Given the description of an element on the screen output the (x, y) to click on. 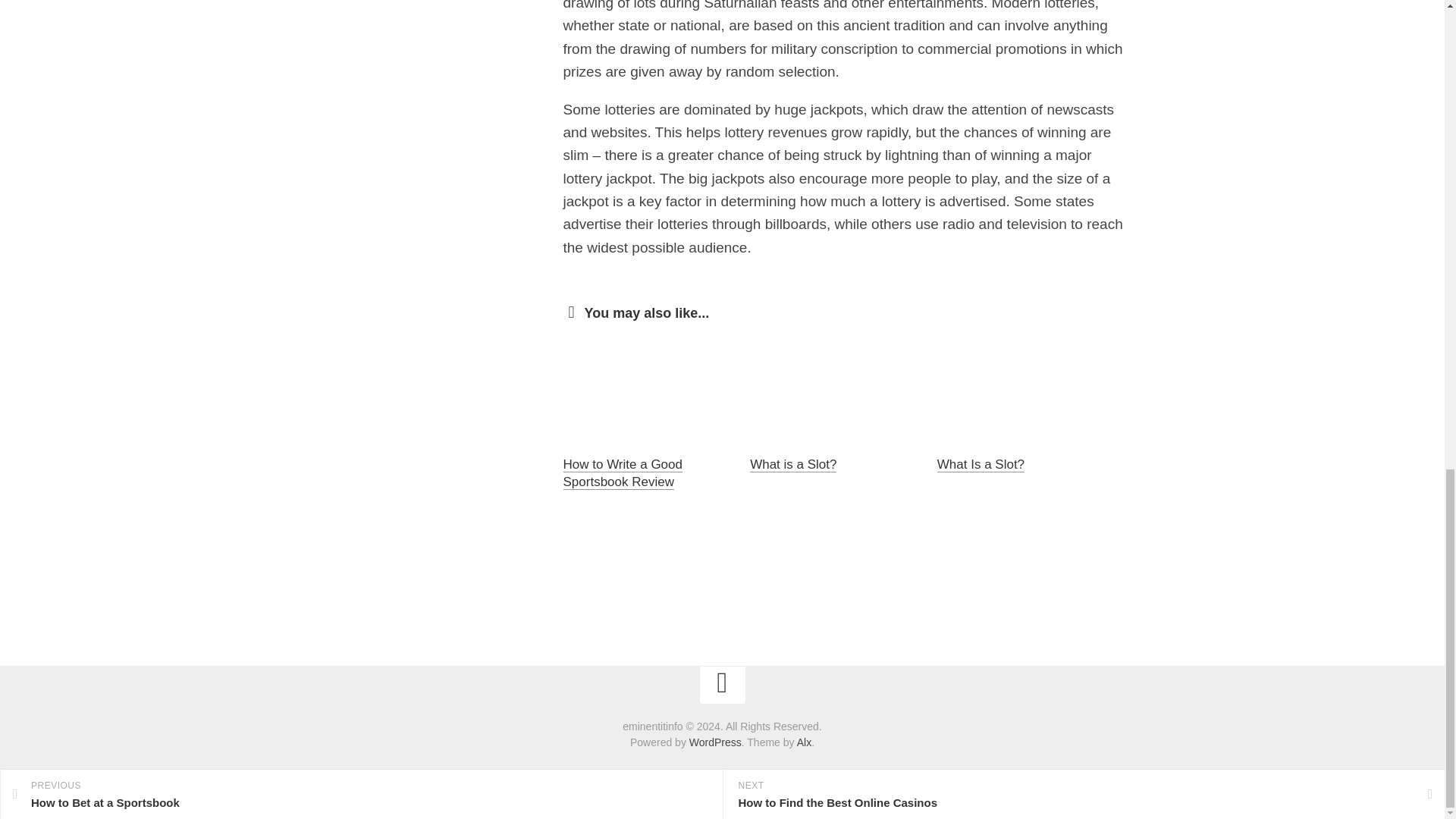
WordPress (714, 742)
How to Write a Good Sportsbook Review (621, 473)
What is a Slot? (792, 464)
Alx (803, 742)
What Is a Slot? (981, 464)
